Given the description of an element on the screen output the (x, y) to click on. 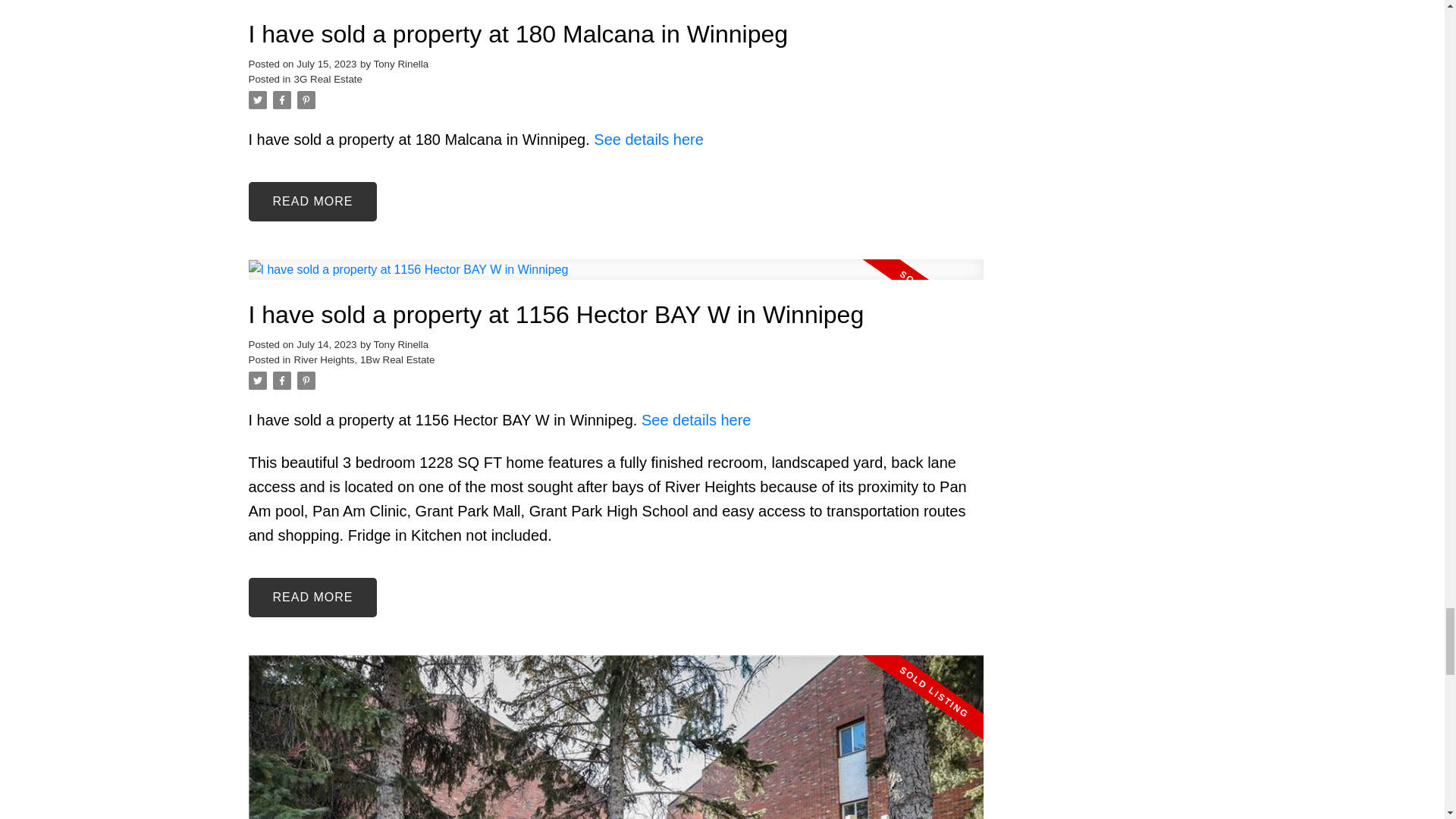
I have sold a property at 1156 Hector BAY W in Winnipeg (616, 315)
Read full post (616, 278)
3G Real Estate (328, 79)
Read full post (616, 737)
Read full post (616, 8)
See details here (648, 139)
I have sold a property at 180 Malcana in Winnipeg (616, 34)
READ (312, 201)
